Given the description of an element on the screen output the (x, y) to click on. 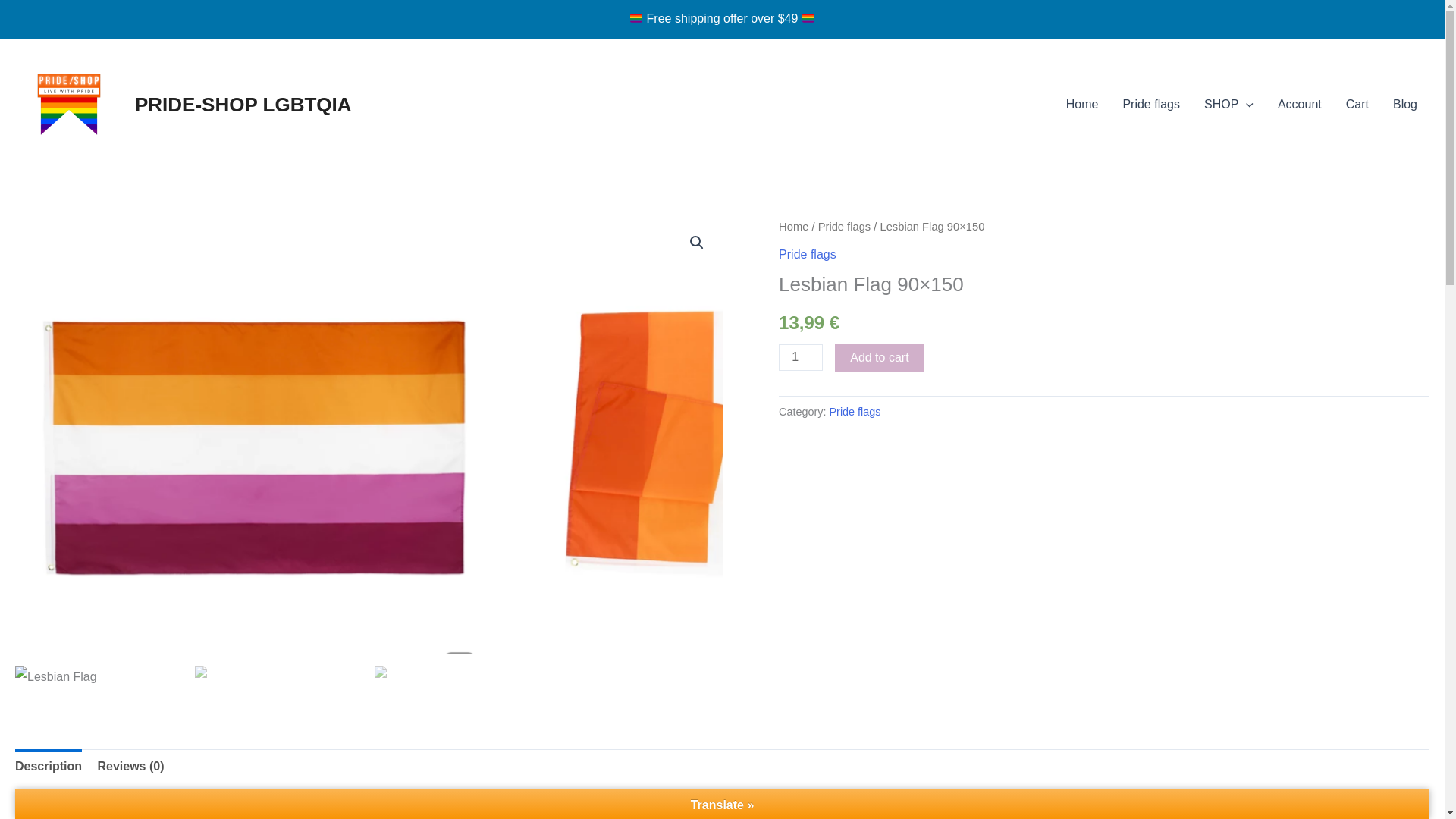
Account (1299, 104)
Home (1082, 104)
PRIDE-SHOP LGBTQIA (243, 104)
Pride flags (1150, 104)
SHOP (1228, 104)
1 (800, 357)
